Given the description of an element on the screen output the (x, y) to click on. 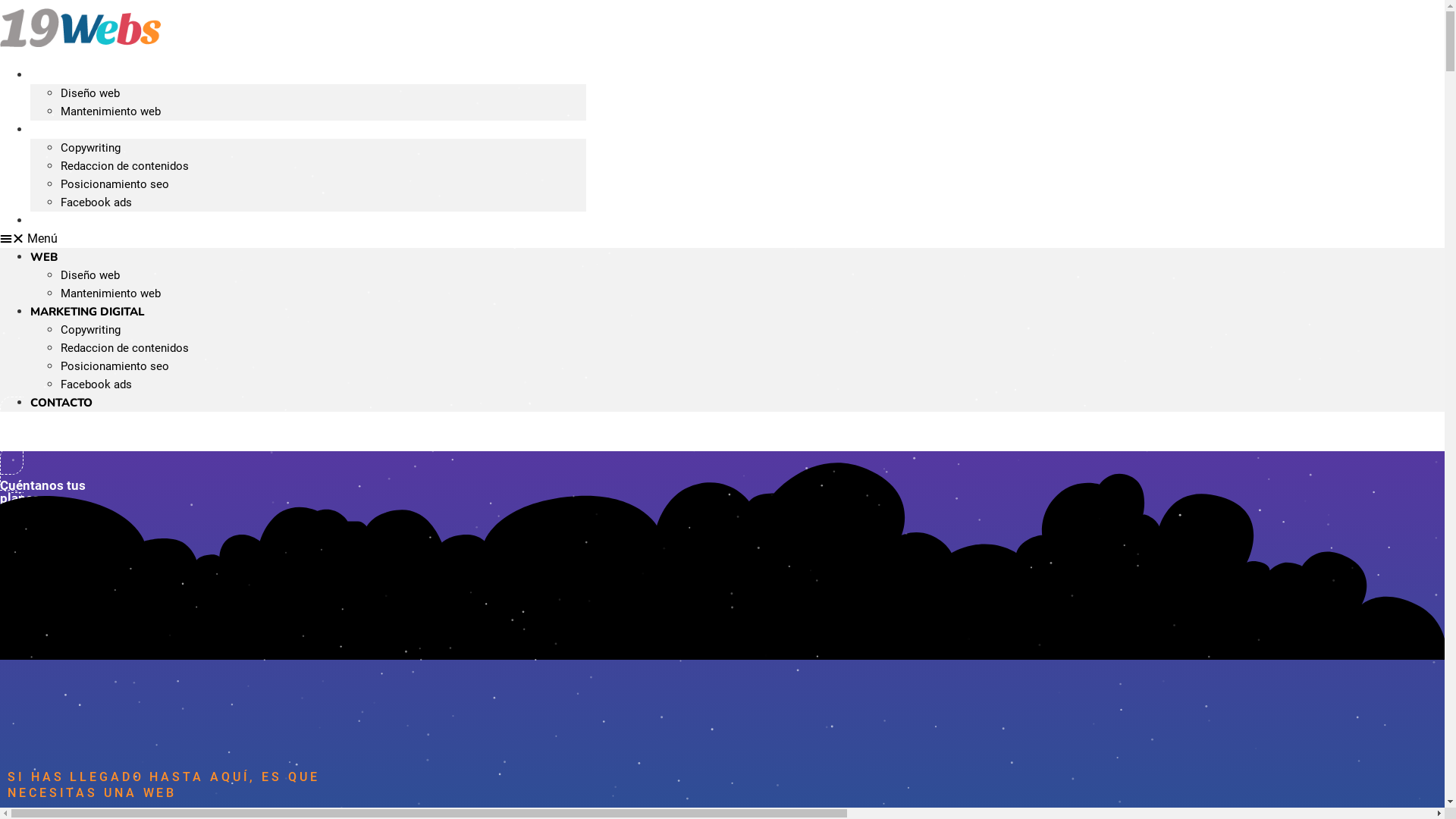
WEB Element type: text (43, 256)
Posicionamiento seo Element type: text (114, 366)
Redaccion de contenidos Element type: text (124, 347)
CONTACTO Element type: text (61, 402)
Redaccion de contenidos Element type: text (124, 165)
Mantenimiento web Element type: text (110, 293)
Ir al contenido Element type: text (0, 0)
Copywriting Element type: text (90, 329)
MARKETING DIGITAL Element type: text (85, 129)
Posicionamiento seo Element type: text (114, 184)
Facebook ads Element type: text (95, 384)
CONTACTO Element type: text (60, 220)
MARKETING DIGITAL Element type: text (87, 311)
Mantenimiento web Element type: text (110, 111)
WEB Element type: text (43, 74)
Copywriting Element type: text (90, 147)
Facebook ads Element type: text (95, 202)
